Given the description of an element on the screen output the (x, y) to click on. 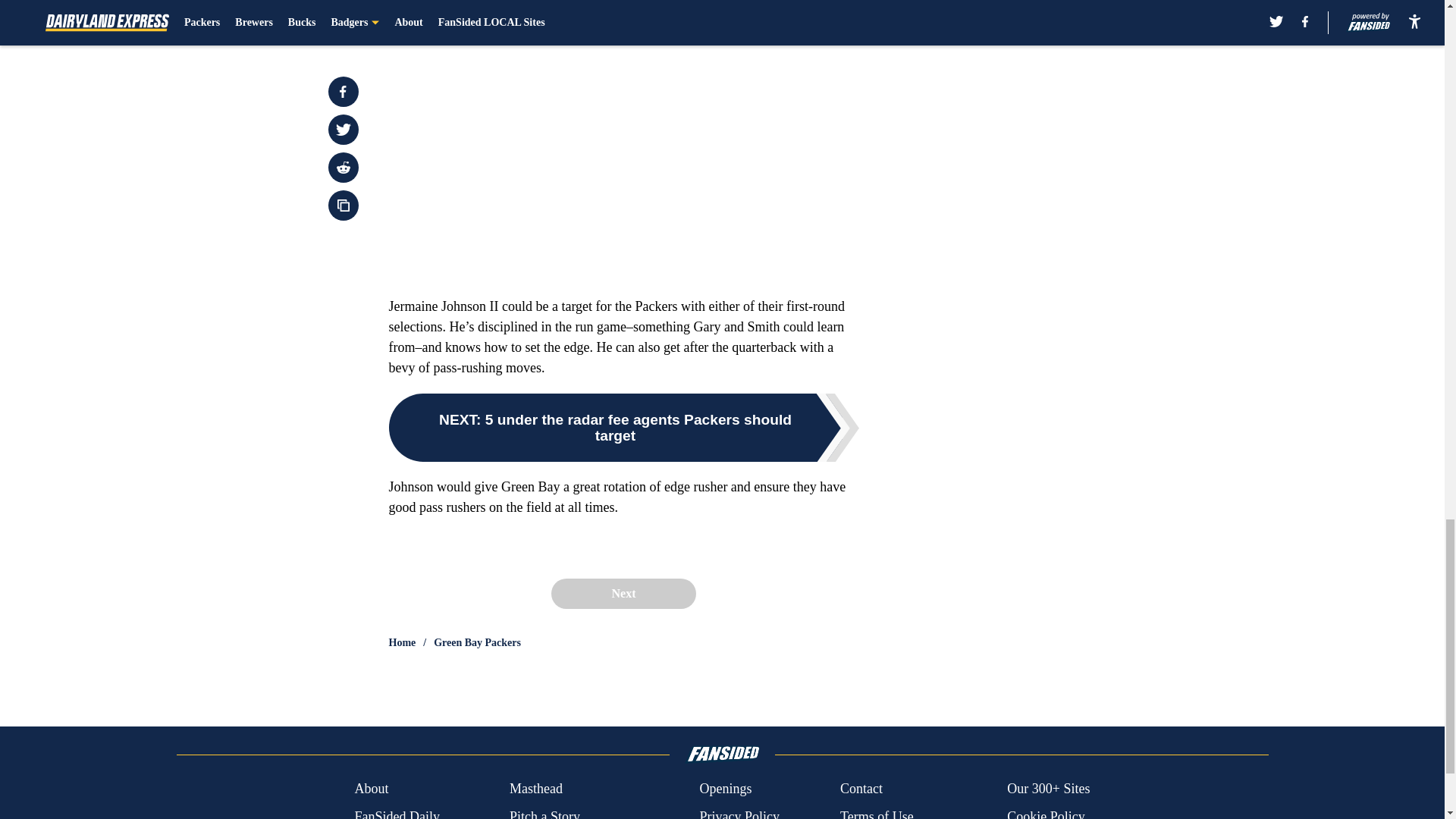
NEXT: 5 under the radar fee agents Packers should target (623, 427)
Privacy Policy (738, 812)
Terms of Use (877, 812)
Green Bay Packers (477, 642)
Masthead (535, 788)
Pitch a Story (544, 812)
FanSided Daily (396, 812)
Home (401, 642)
Next (622, 593)
About (370, 788)
Openings (724, 788)
Contact (861, 788)
